Given the description of an element on the screen output the (x, y) to click on. 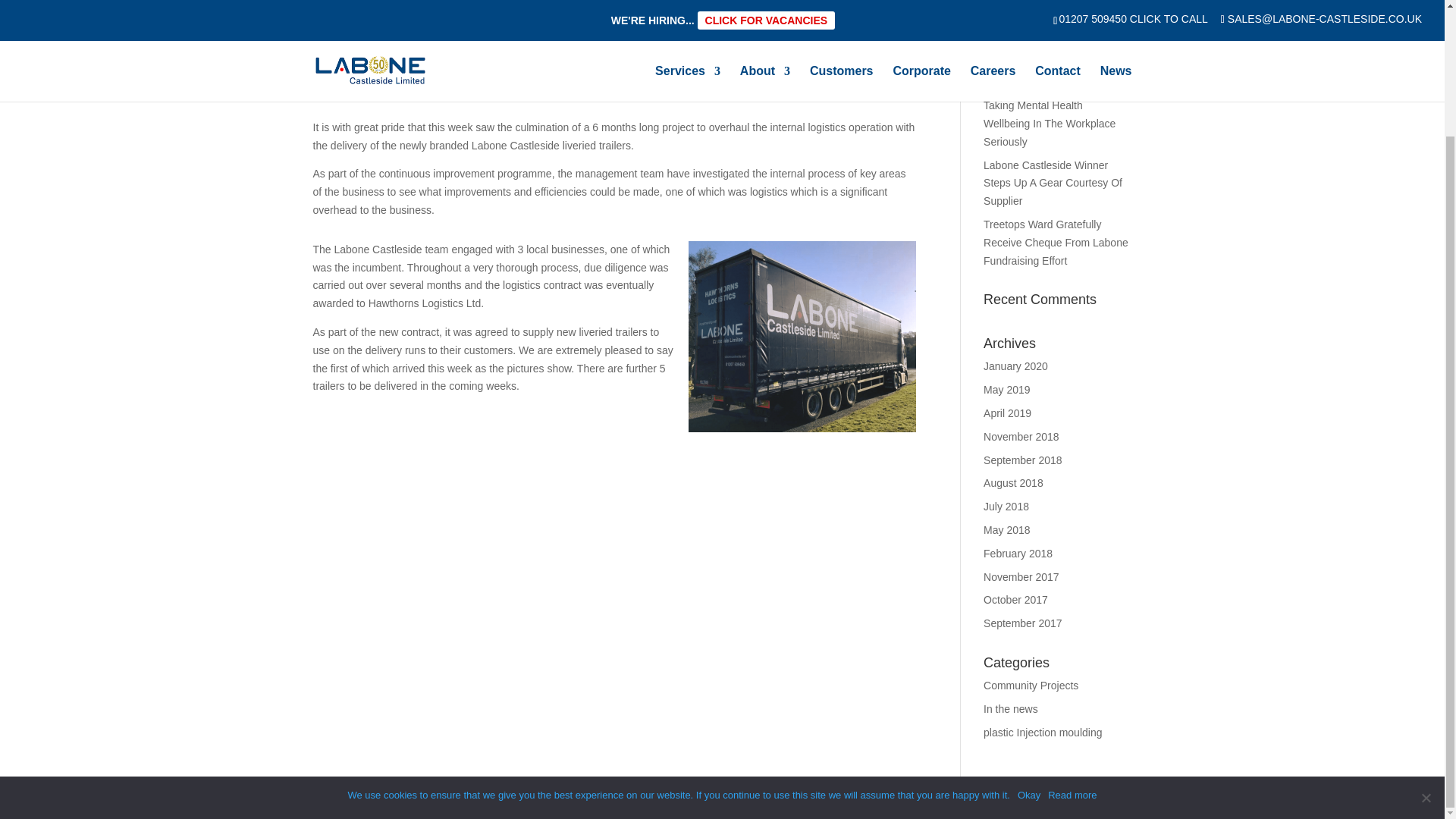
May 2019 (1006, 389)
Taking Mental Health Wellbeing In The Workplace Seriously (1049, 123)
Labone Castleside (370, 31)
No (1425, 645)
Job Opportunities At Our Fast Growing Business (1053, 73)
Charitable Gifts For Great Local Causes (1044, 31)
January 2020 (1016, 366)
In the news (522, 31)
